Given the description of an element on the screen output the (x, y) to click on. 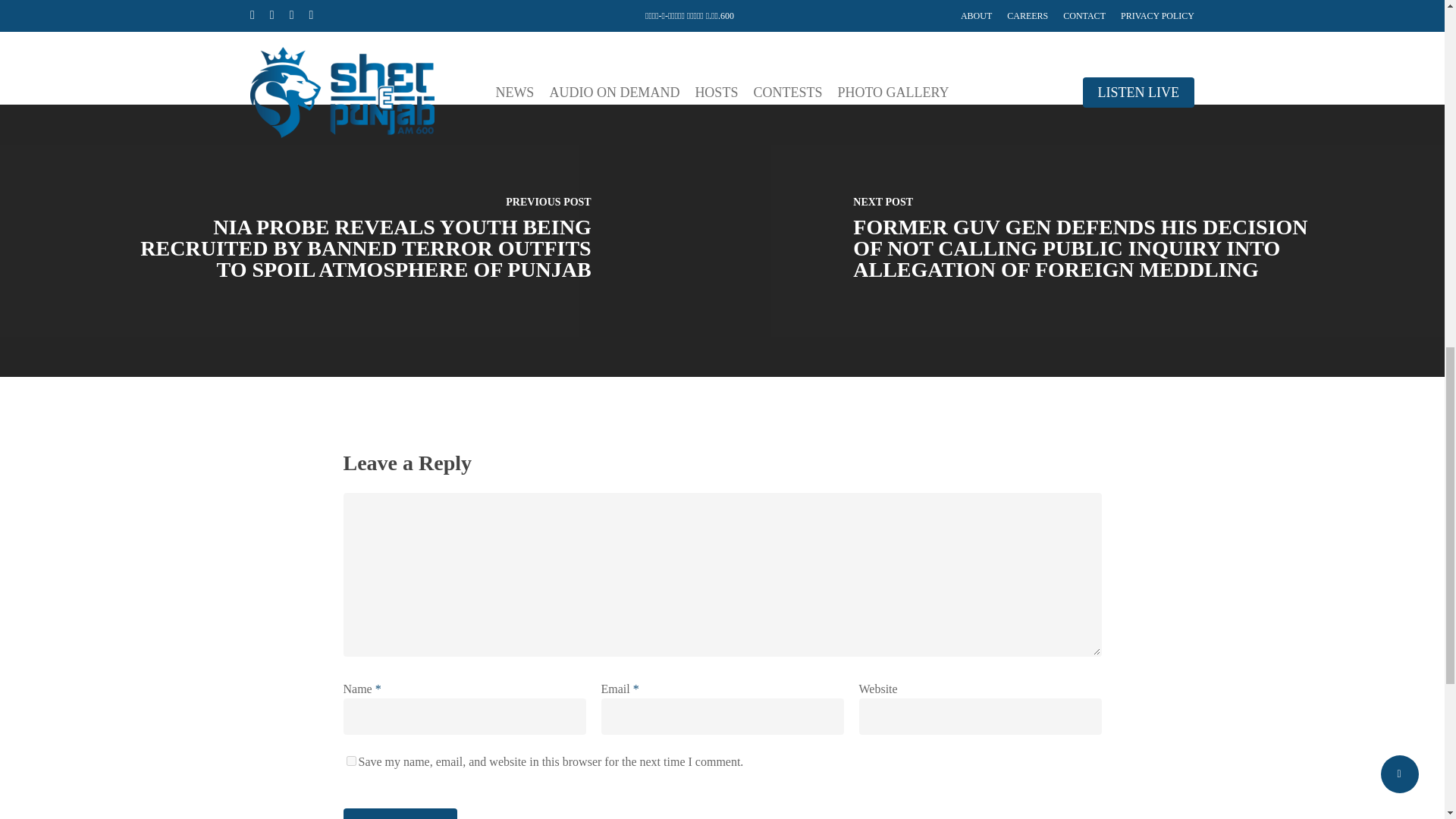
yes (350, 760)
Submit Comment (399, 813)
Submit Comment (399, 813)
